Given the description of an element on the screen output the (x, y) to click on. 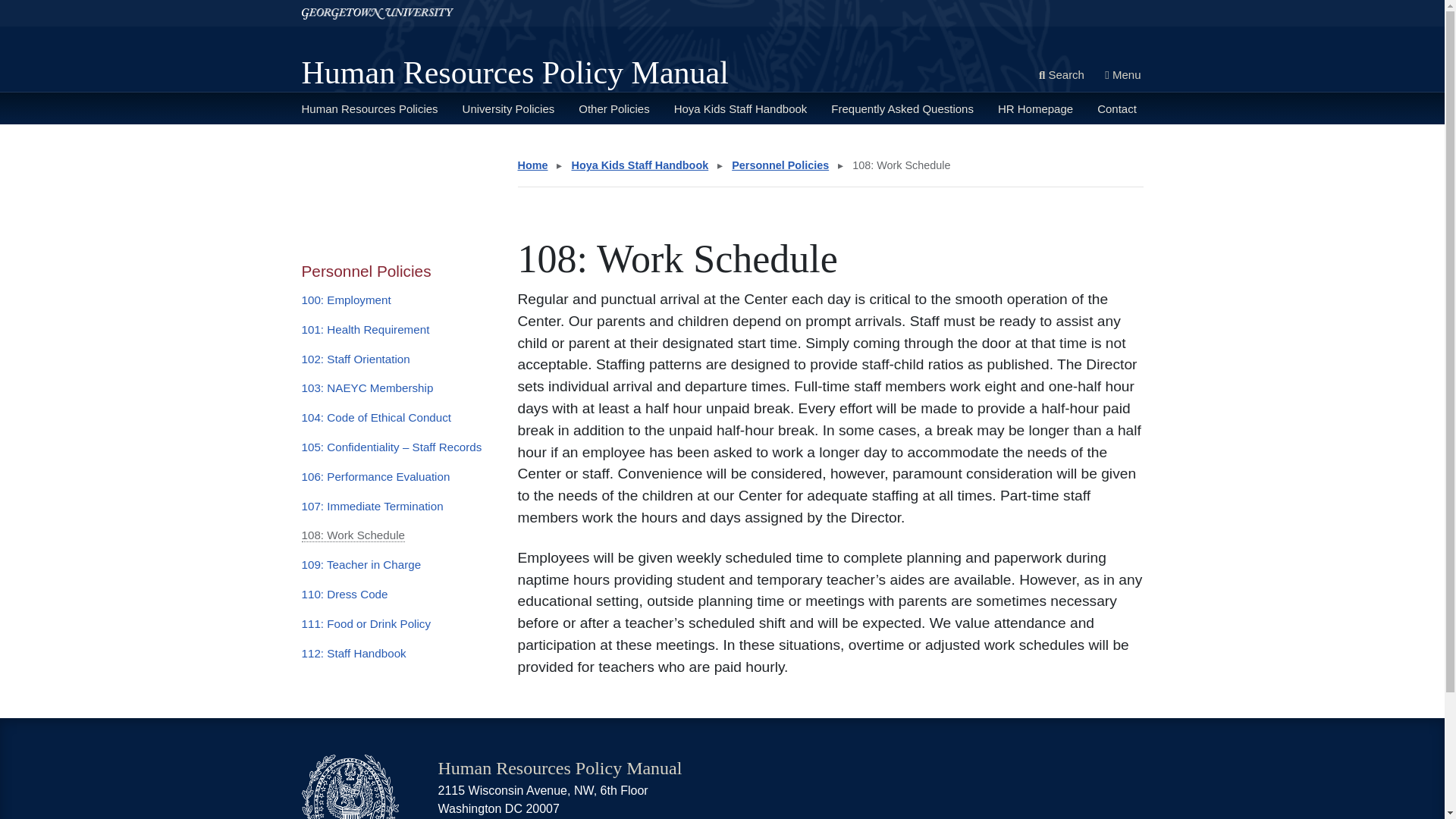
Search (1061, 75)
Toggle sub-navigation (534, 144)
Human Resources Policies (369, 107)
Menu (1122, 75)
Human Resources Policy Manual (515, 72)
University Policies (508, 107)
Skip to main site menu (61, 6)
Toggle sub-navigation (372, 144)
Skip to main content (55, 6)
